Given the description of an element on the screen output the (x, y) to click on. 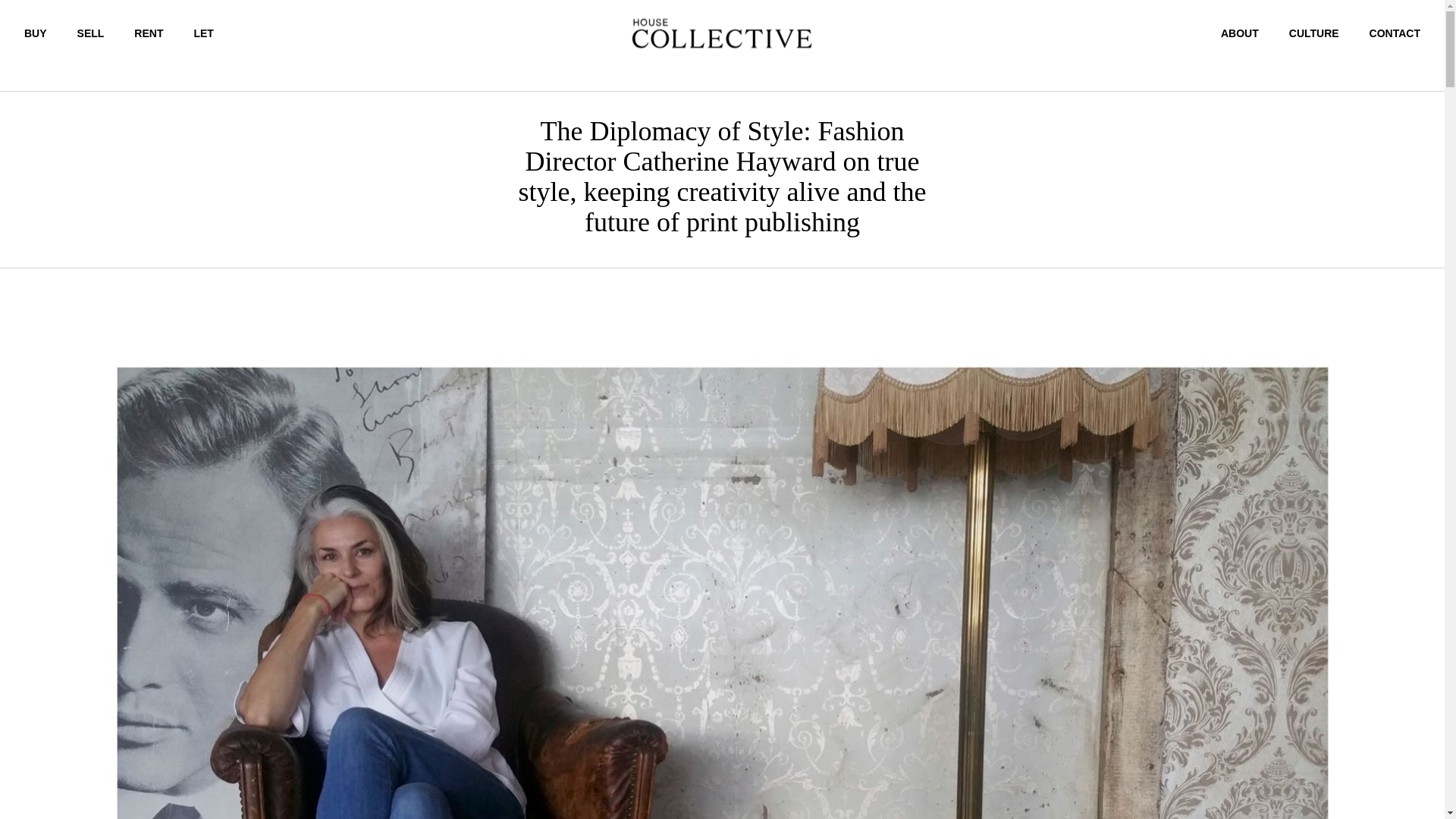
CONTACT (1395, 32)
BUY (35, 33)
SELL (90, 33)
RENT (148, 33)
CULTURE (1313, 32)
ABOUT (1240, 32)
LET (202, 33)
